Given the description of an element on the screen output the (x, y) to click on. 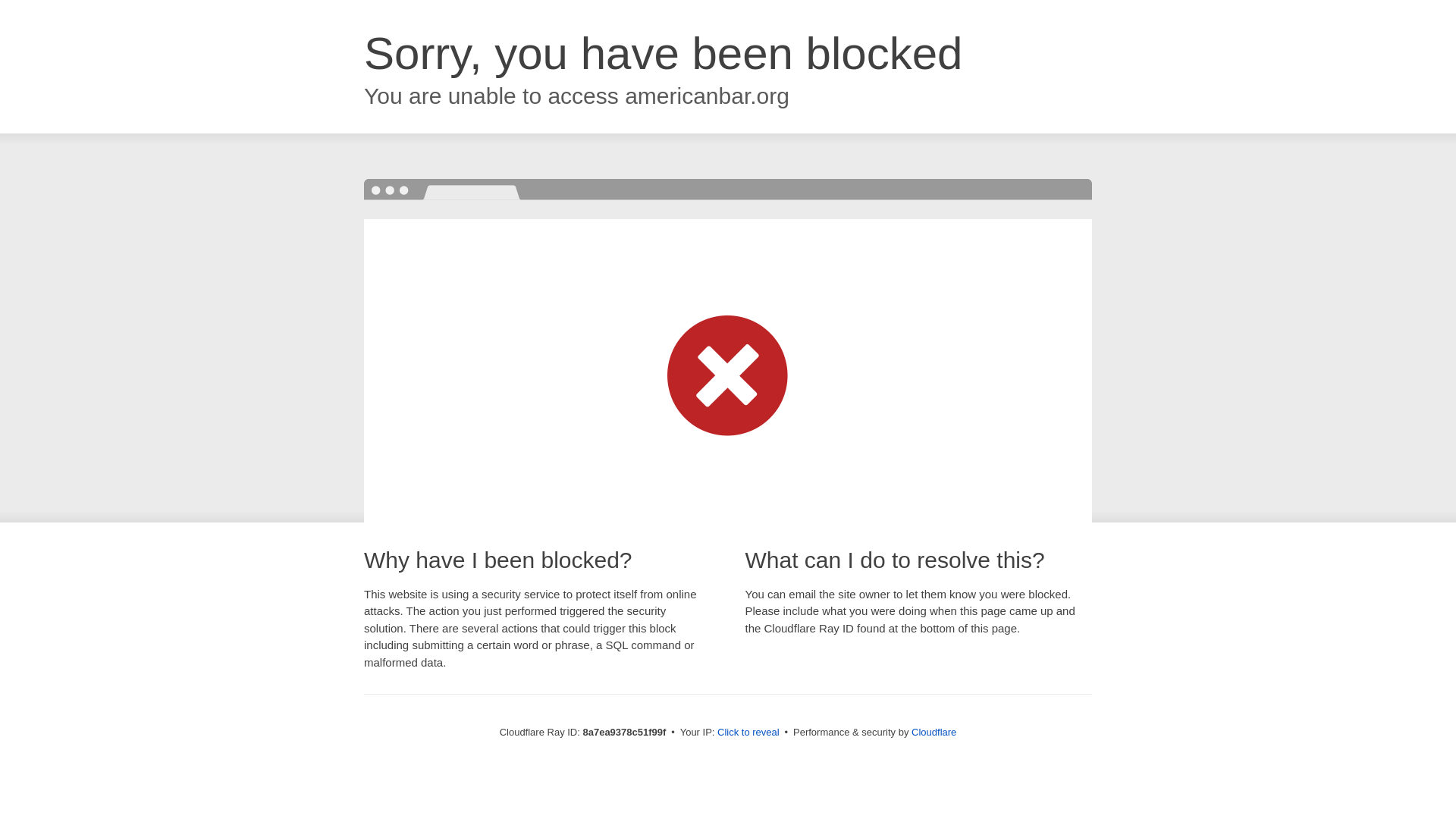
Click to reveal (747, 732)
Cloudflare (933, 731)
